Given the description of an element on the screen output the (x, y) to click on. 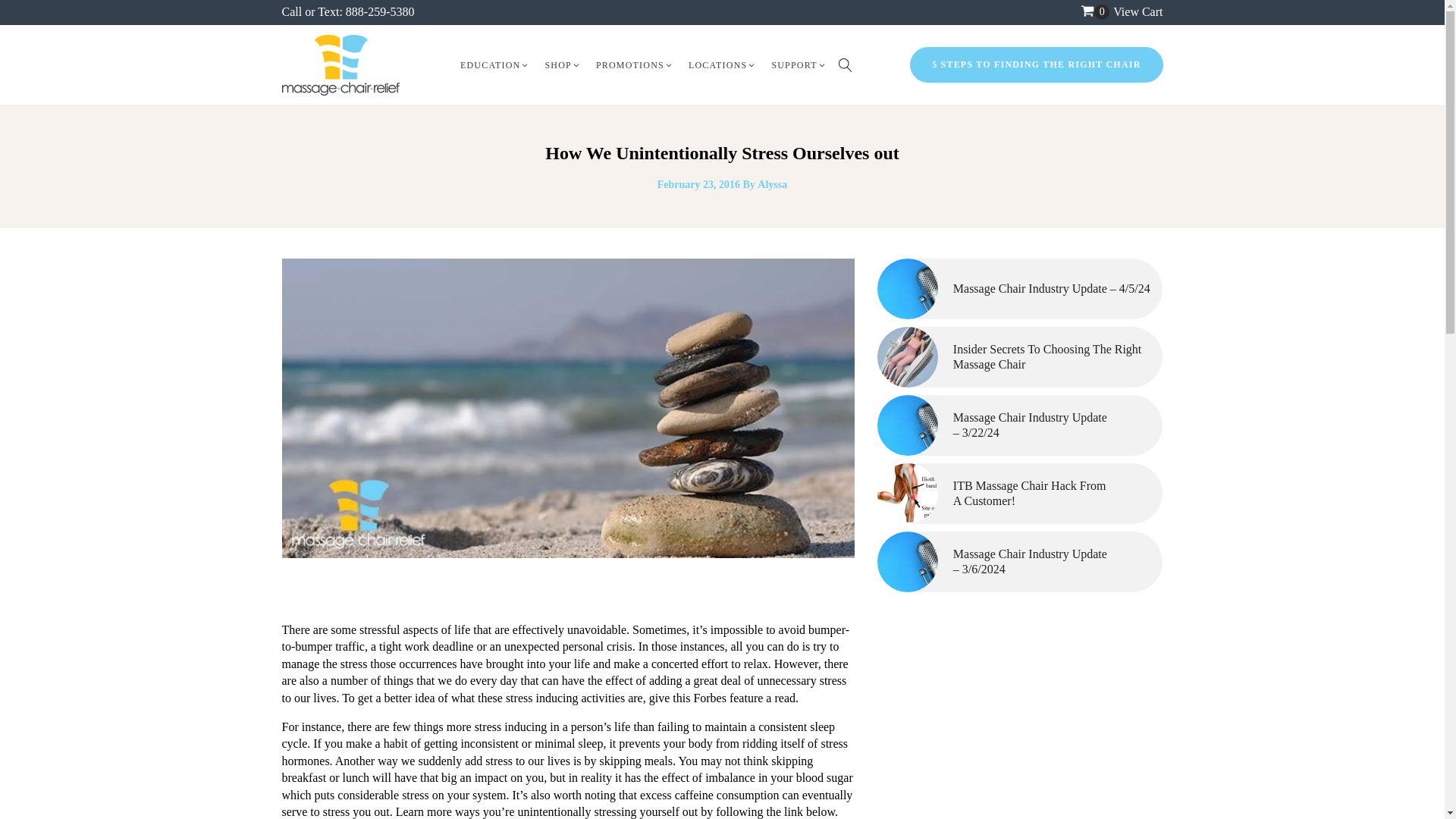
Go to Cart (1094, 12)
View Cart (1137, 11)
EDUCATION (494, 65)
Call or Text: 888-259-5380 (348, 11)
SHOP (562, 65)
